Given the description of an element on the screen output the (x, y) to click on. 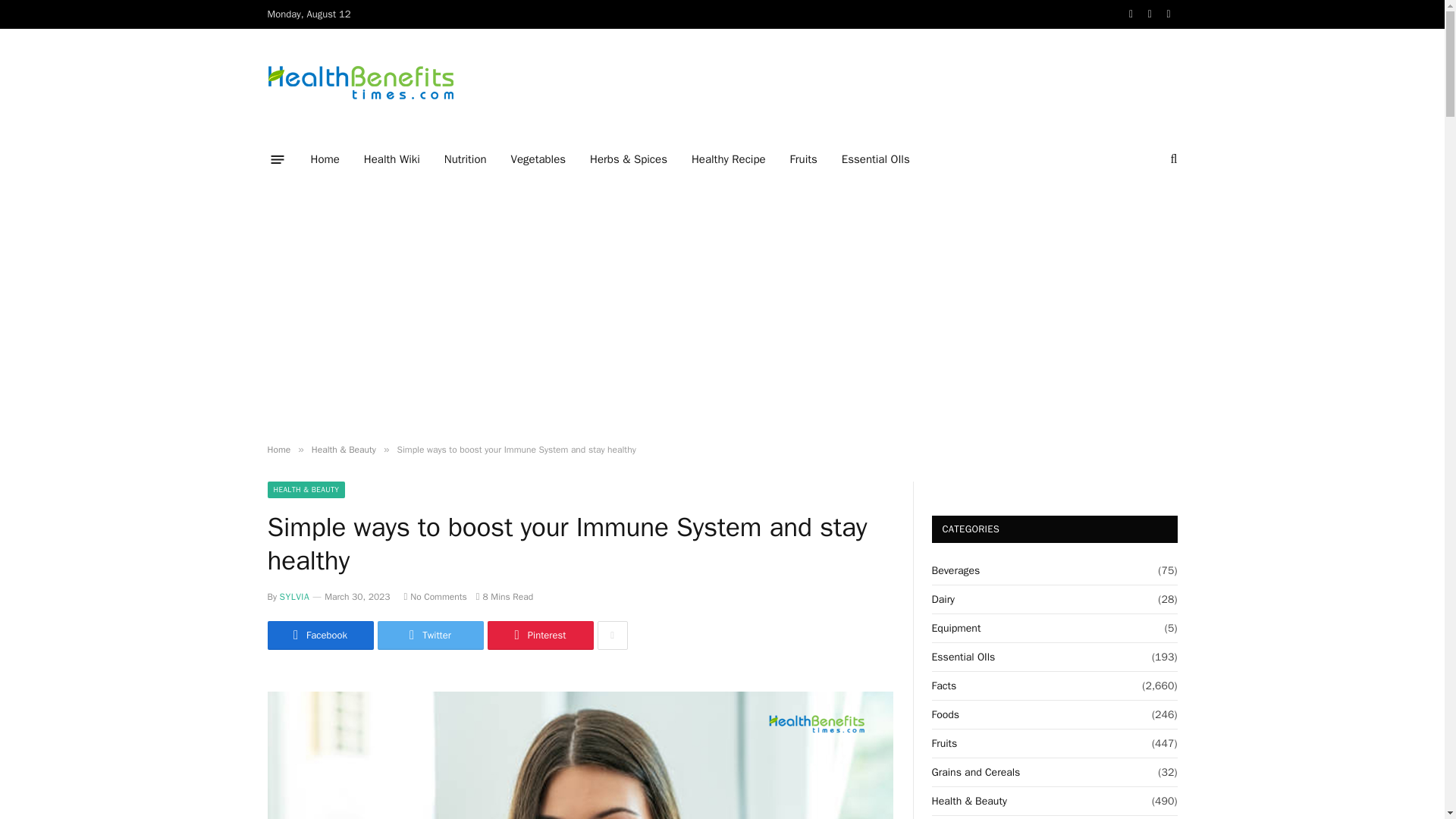
Share on Pinterest (539, 635)
No Comments (434, 596)
Posts by Sylvia (294, 596)
Facebook (319, 635)
Share on Facebook (319, 635)
Fruits (803, 159)
Show More Social Sharing (611, 635)
Nutrition (465, 159)
Vegetables (538, 159)
Home (277, 449)
